Given the description of an element on the screen output the (x, y) to click on. 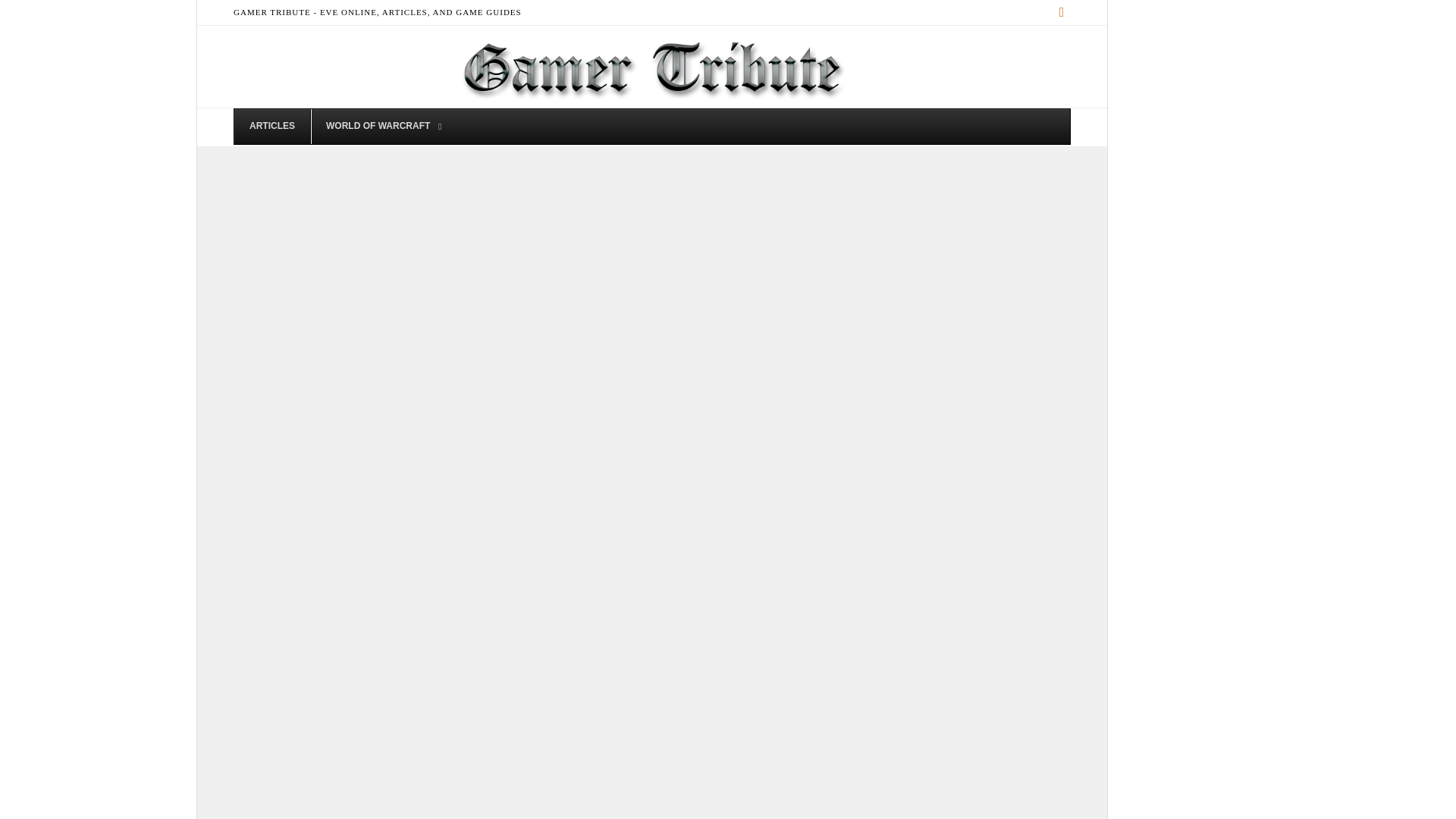
WORLD OF WARCRAFT (379, 126)
ARTICLES (272, 126)
